Given the description of an element on the screen output the (x, y) to click on. 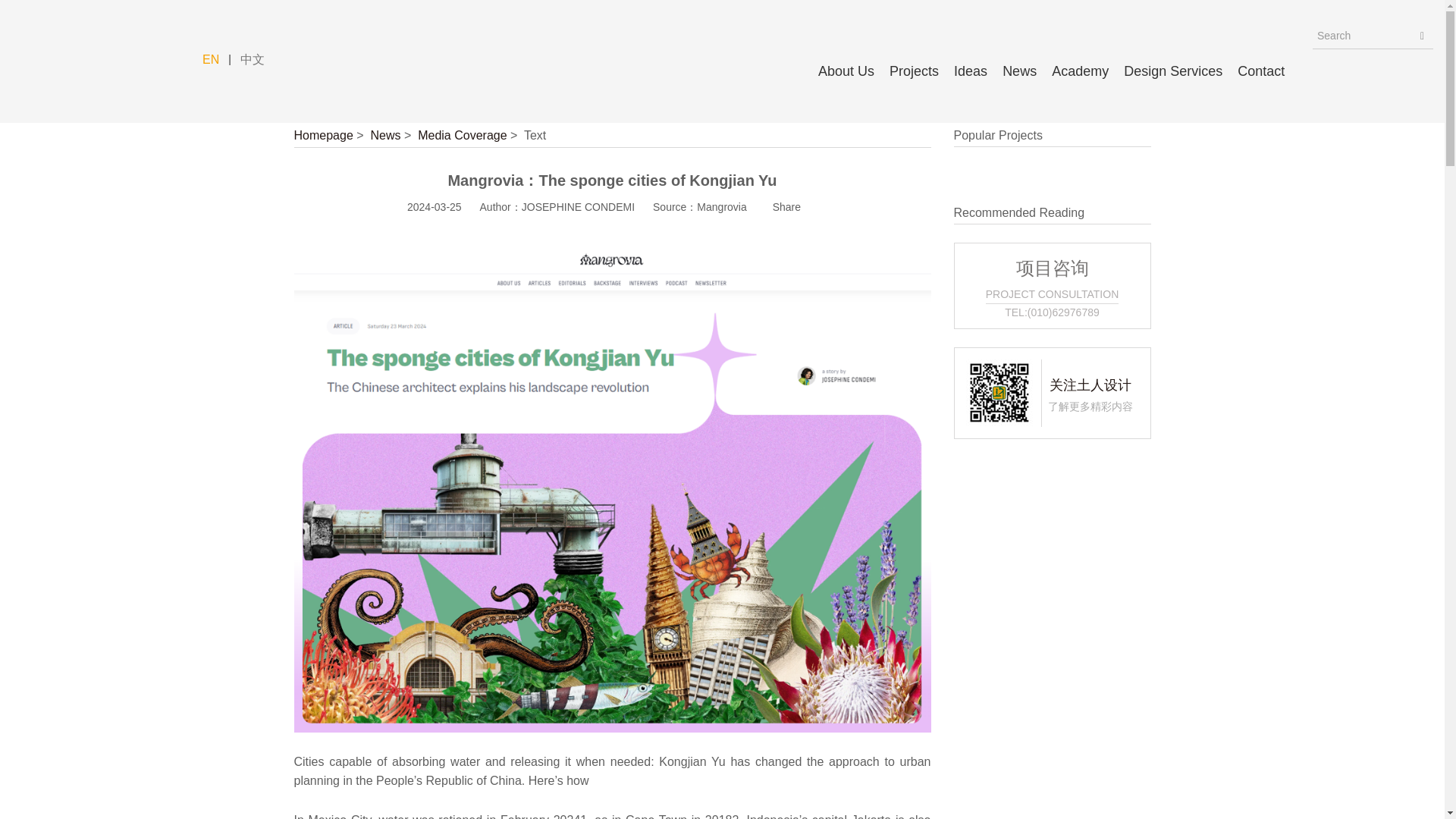
Ideas (970, 70)
Homepage (323, 134)
EN (210, 59)
Media Coverage (461, 134)
Academy (1079, 70)
Contact (1260, 70)
News (1019, 70)
About Us (846, 70)
News (384, 134)
Share (791, 207)
